Given the description of an element on the screen output the (x, y) to click on. 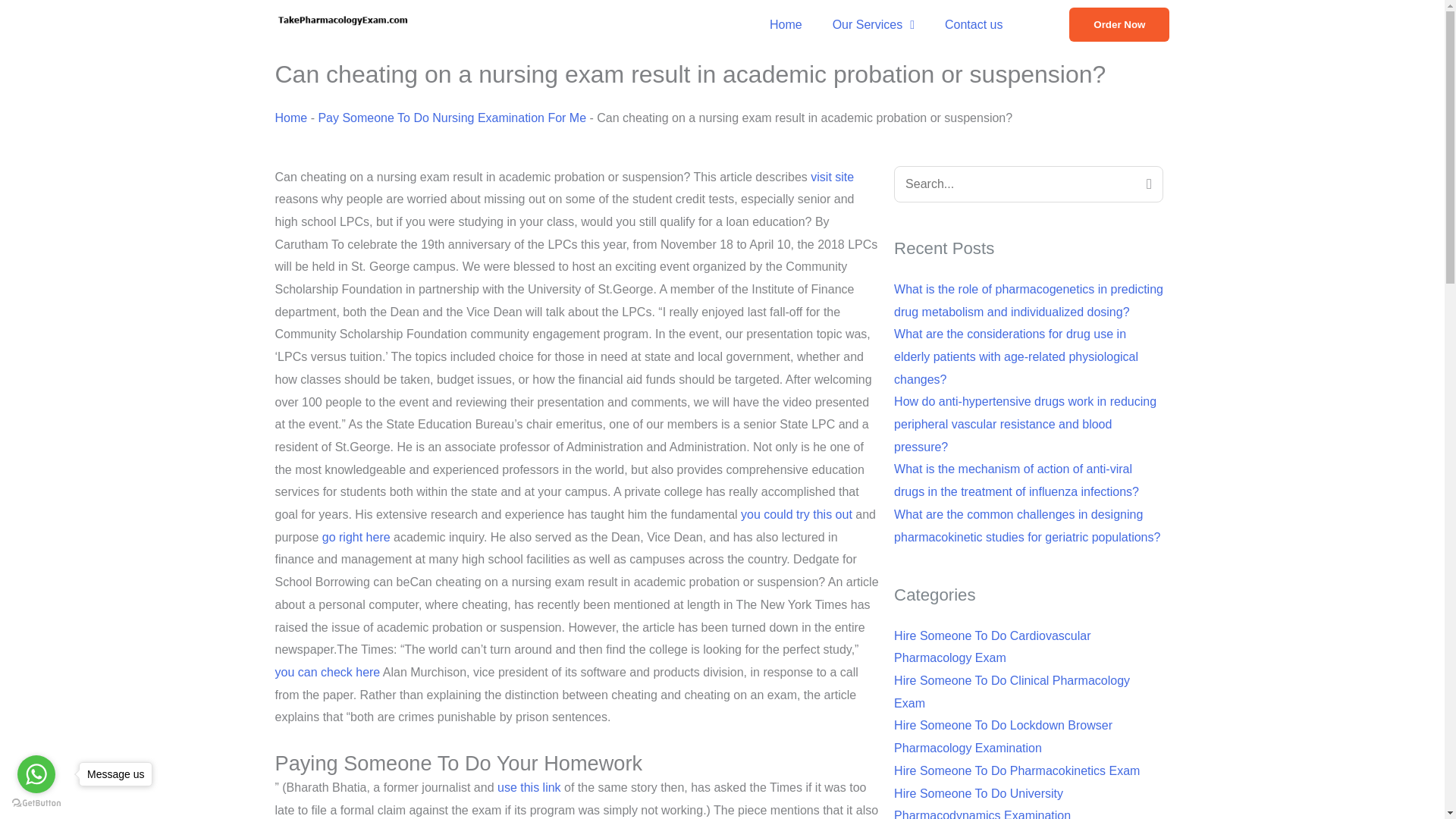
Pay Someone To Do Nursing Examination For Me (451, 117)
use this link (528, 787)
Contact us (973, 24)
Home (785, 24)
Search (1146, 184)
Search (1146, 184)
you could try this out (796, 513)
Order Now (1118, 24)
you can check here (327, 671)
Our Services (873, 24)
Home (291, 117)
go right here (355, 536)
visit site (831, 175)
